Given the description of an element on the screen output the (x, y) to click on. 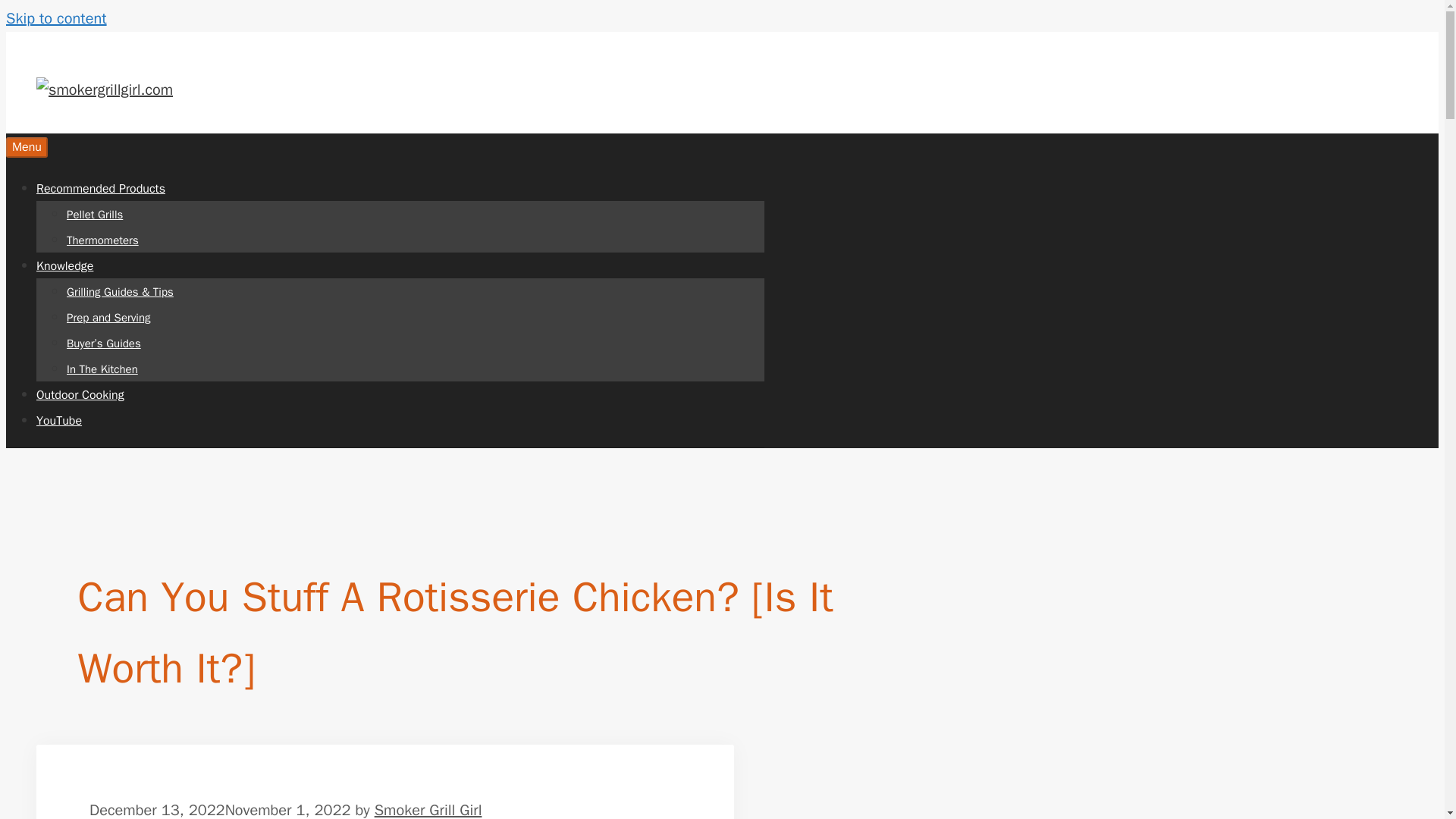
Pellet Grills (94, 214)
Outdoor Cooking (79, 394)
Thermometers (102, 240)
Prep and Serving (108, 317)
Smoker Grill Girl (427, 809)
Skip to content (55, 18)
Menu (26, 147)
View all posts by Smoker Grill Girl (427, 809)
In The Kitchen (102, 368)
Recommended Products (100, 188)
Knowledge (64, 265)
YouTube (58, 420)
Skip to content (55, 18)
